Given the description of an element on the screen output the (x, y) to click on. 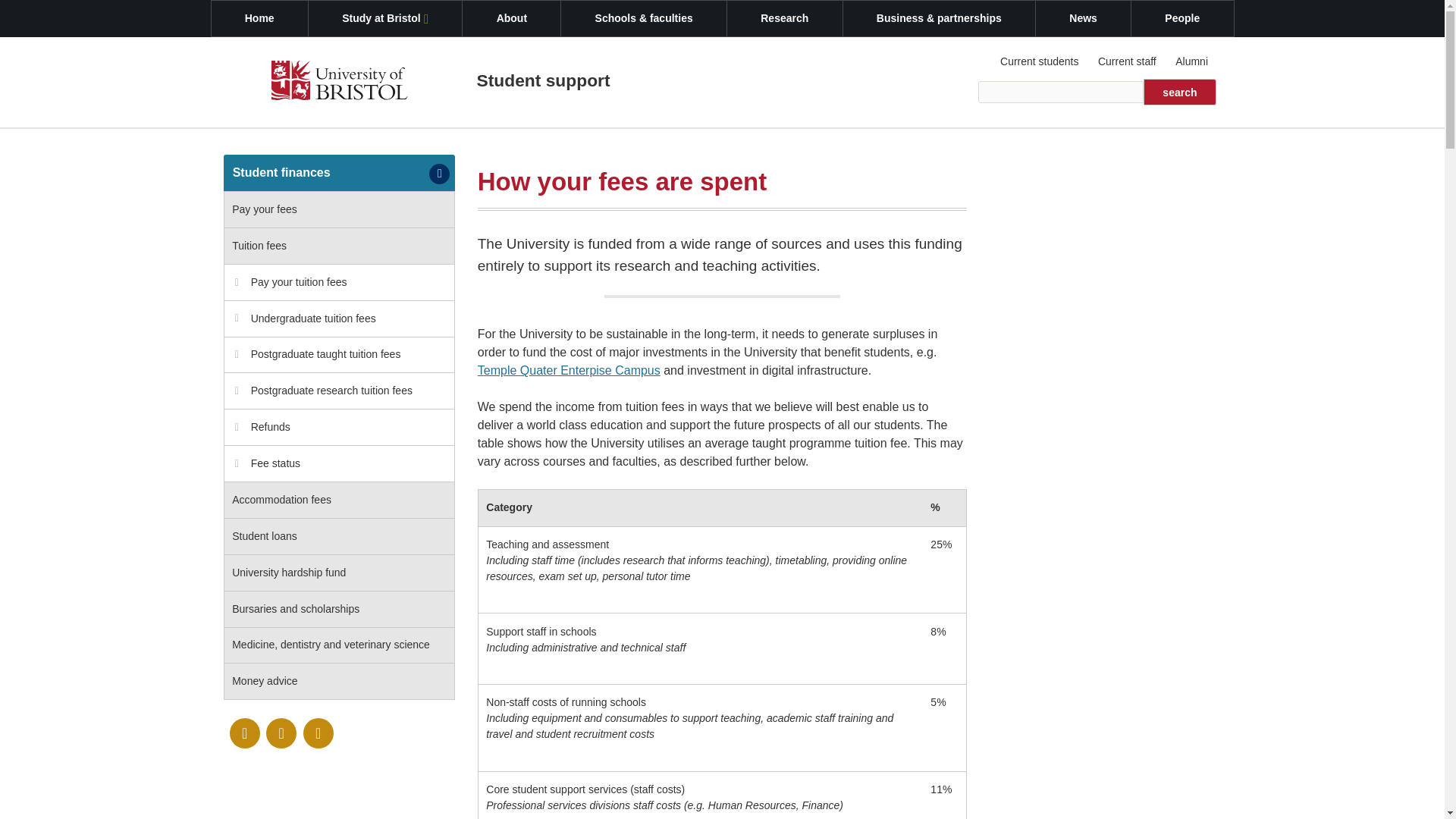
Temple Quater Enterpise Campus (569, 369)
Student finances (339, 172)
Postgraduate research tuition fees (339, 391)
Research (784, 18)
Money advice (339, 681)
enter search keywords (1061, 92)
Bursaries and scholarships (339, 609)
News (1083, 18)
Pay your tuition fees (339, 282)
About (511, 18)
Pay your fees (339, 209)
Medicine, dentistry and veterinary science (339, 646)
search (1178, 91)
Tuition fees (339, 246)
Fee status (339, 463)
